Given the description of an element on the screen output the (x, y) to click on. 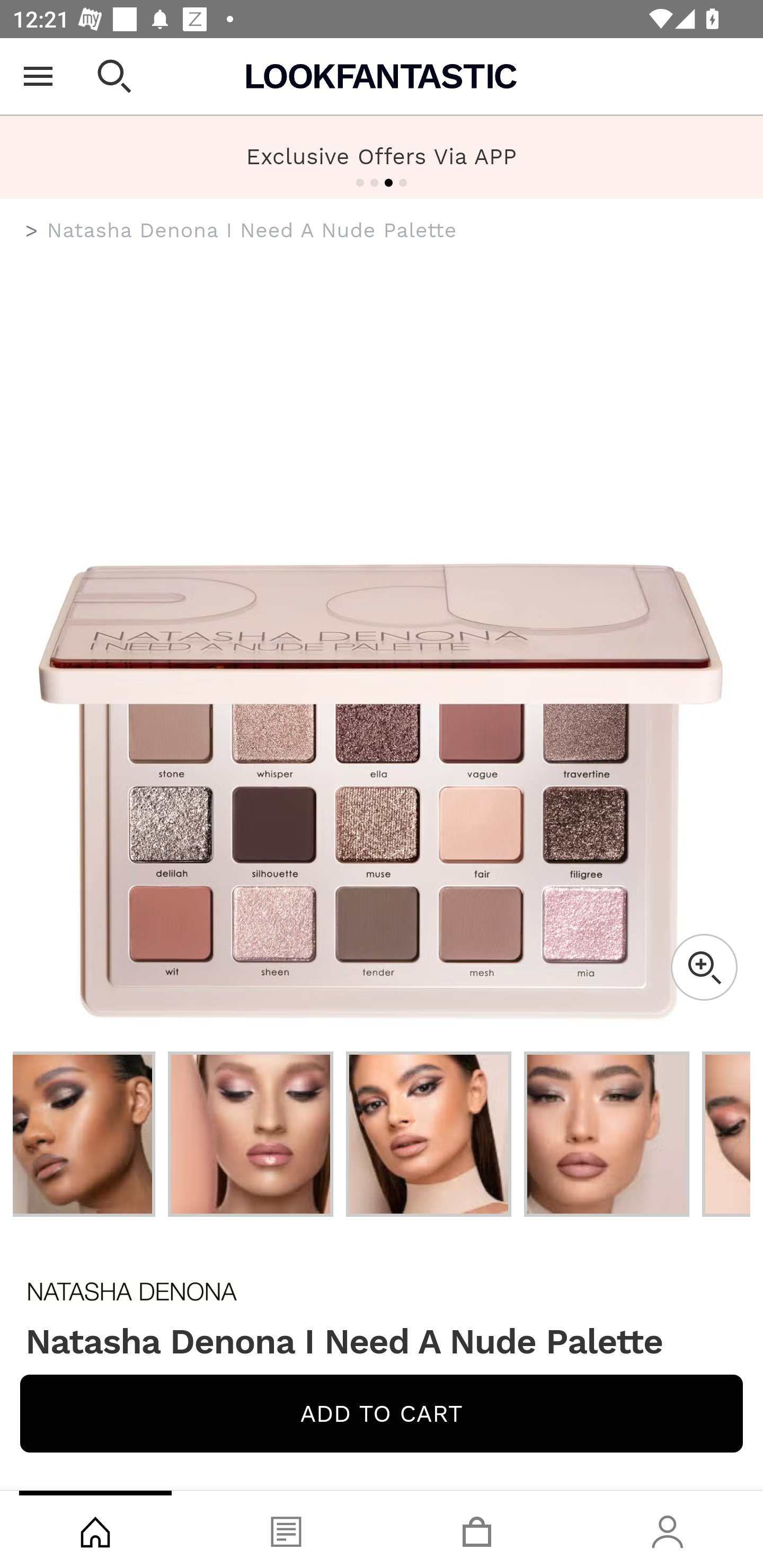
Open Menu (38, 75)
Open search (114, 75)
Lookfantastic USA (381, 75)
us.lookfantastic (32, 230)
Zoom (703, 966)
Natasha Denona (381, 1291)
Add to cart (381, 1413)
Shop, tab, 1 of 4 (95, 1529)
Blog, tab, 2 of 4 (285, 1529)
Basket, tab, 3 of 4 (476, 1529)
Account, tab, 4 of 4 (667, 1529)
